Given the description of an element on the screen output the (x, y) to click on. 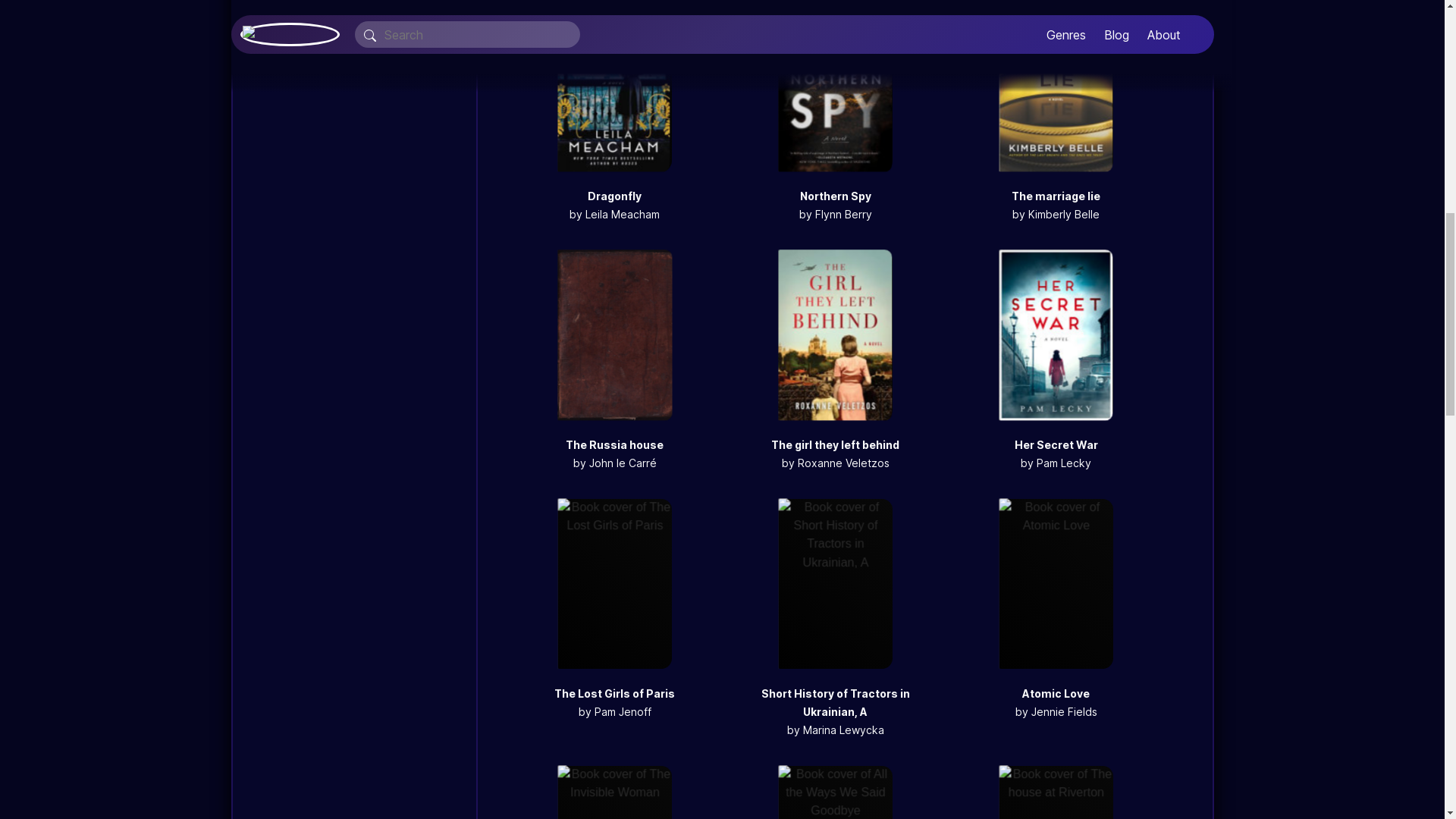
Leila MeachamDragonfly (614, 102)
Pam JenoffThe Lost Girls of Paris (614, 599)
Erika RobuckThe Invisible Woman (614, 792)
The Lost Girls of Paris (614, 693)
Roxanne VeletzosThe girl they left behind (834, 351)
Marina LewyckaShort History of Tractors in Ukrainian, A (834, 599)
The girl they left behind (835, 444)
Flynn BerryNorthern Spy (834, 102)
The Russia house (614, 444)
Northern Spy (834, 195)
